Given the description of an element on the screen output the (x, y) to click on. 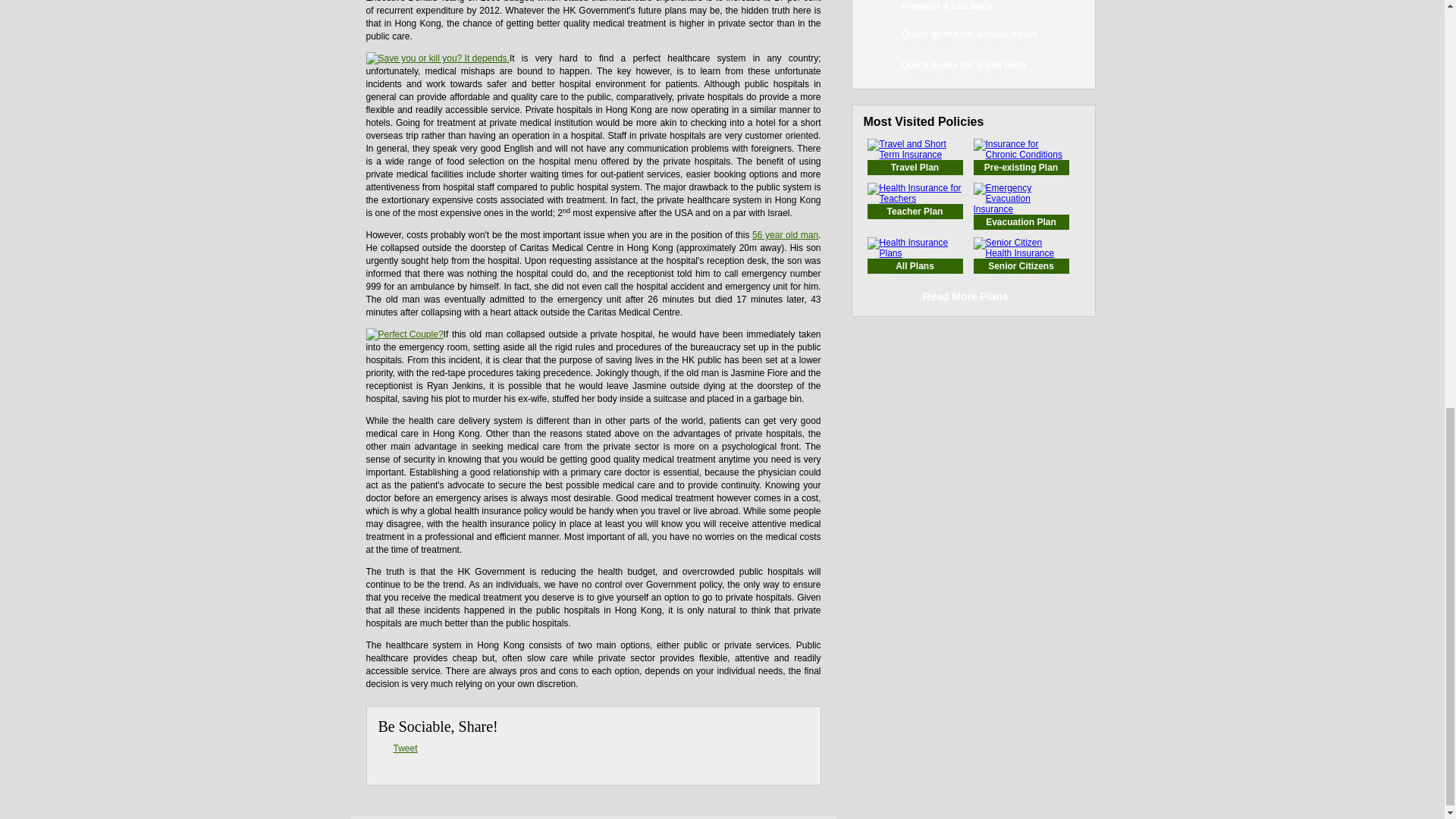
Tweet (404, 747)
Perfect Couple? (403, 334)
Travel and Short Term Insurance (914, 167)
Save you or kill you? It depends. (436, 58)
56 year old man (785, 235)
